Given the description of an element on the screen output the (x, y) to click on. 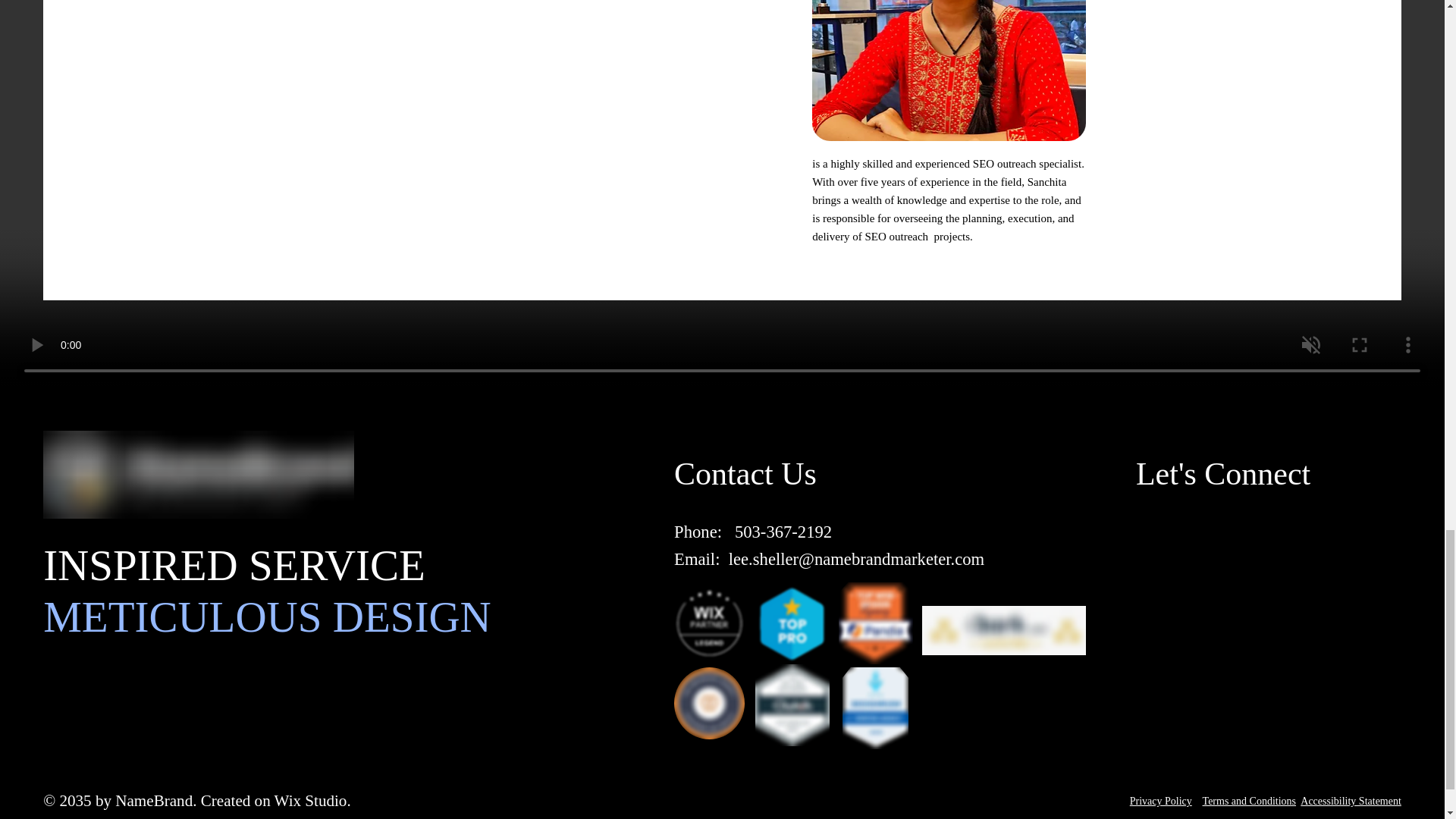
Privacy Policy (1160, 800)
Accessibility Statement (1350, 800)
Terms and Conditions (1248, 800)
